Given the description of an element on the screen output the (x, y) to click on. 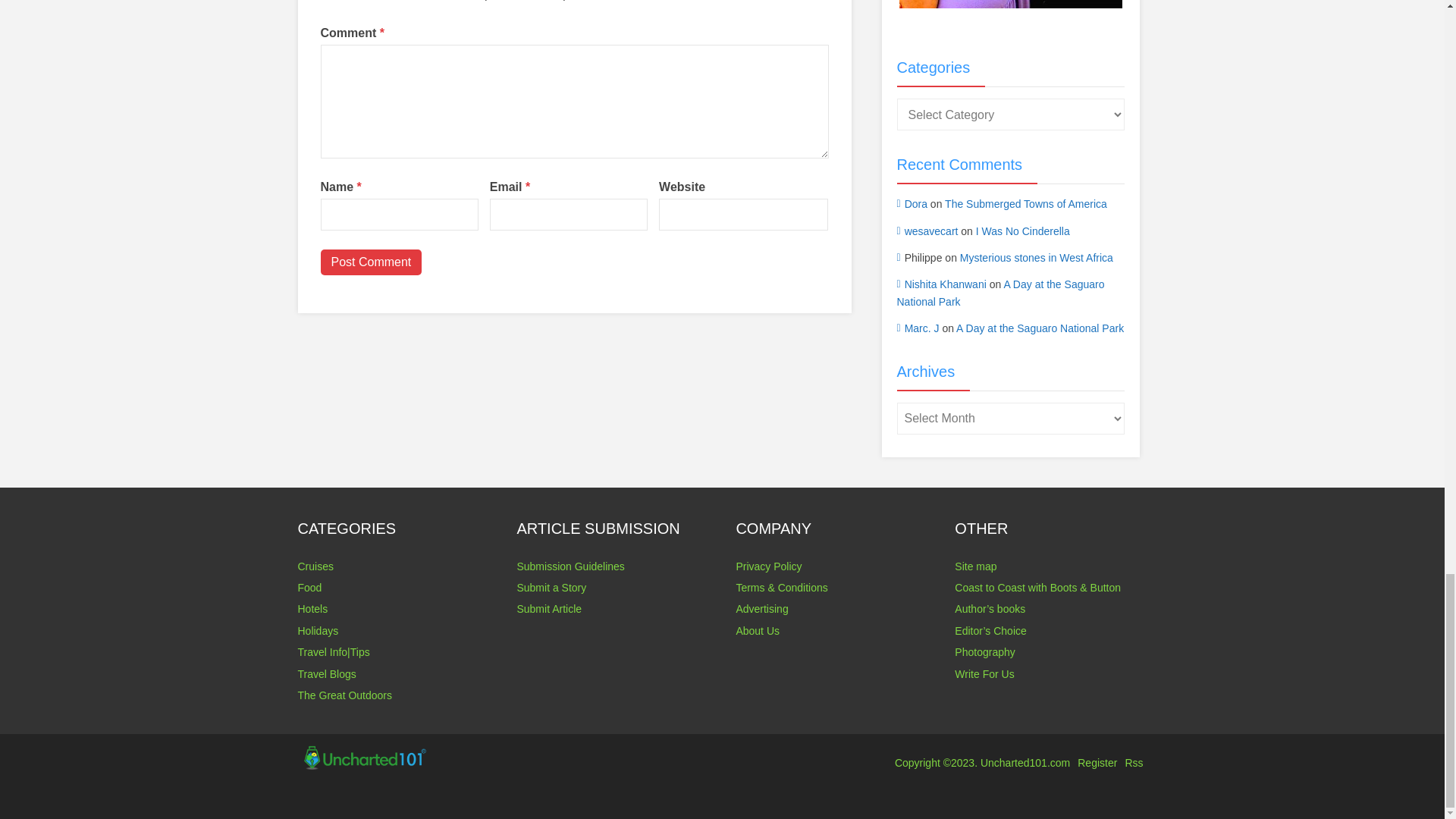
Post Comment (371, 262)
